Given the description of an element on the screen output the (x, y) to click on. 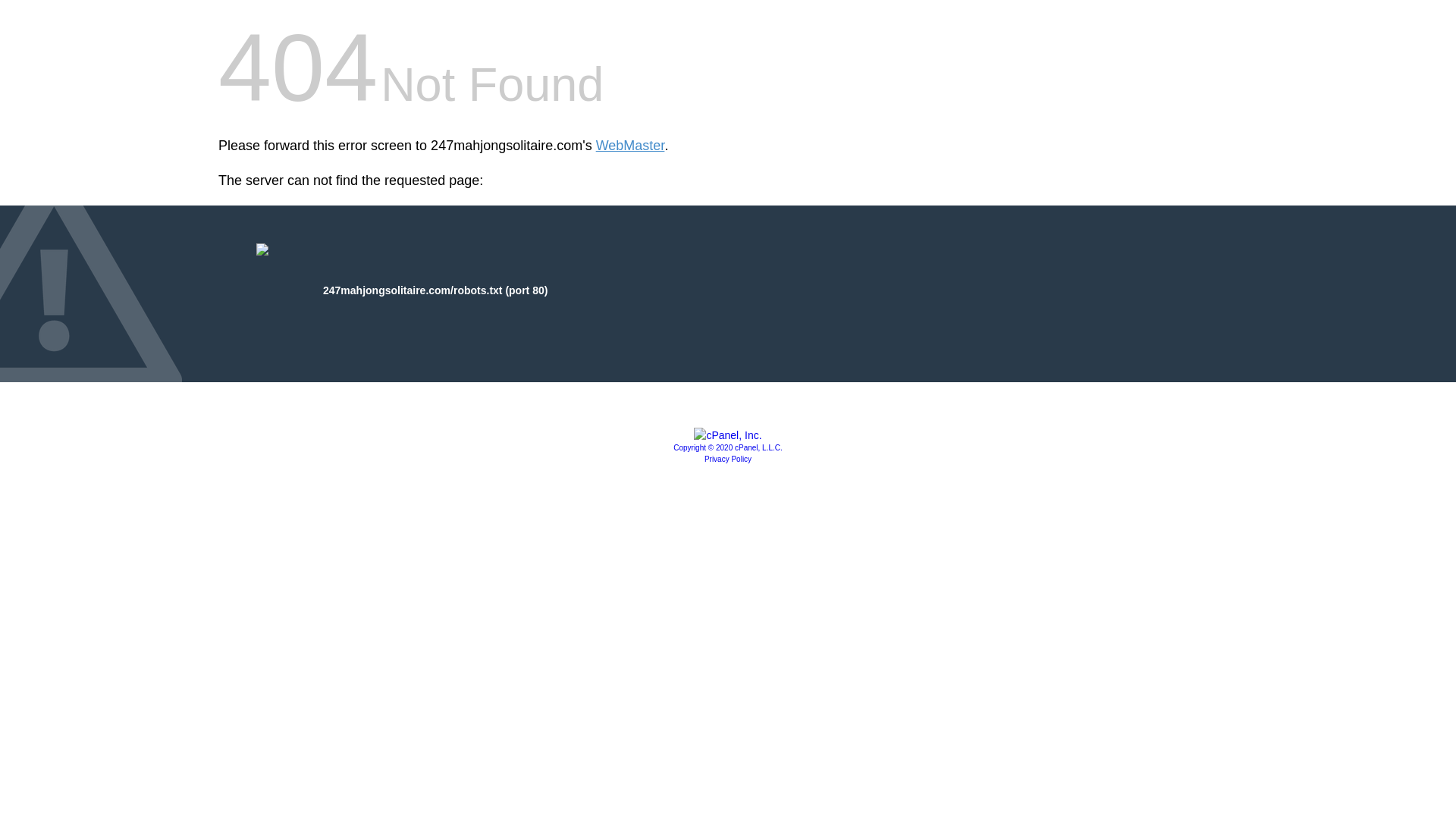
Privacy Policy Element type: text (727, 459)
cPanel, Inc. Element type: hover (727, 435)
WebMaster Element type: text (630, 145)
